Given the description of an element on the screen output the (x, y) to click on. 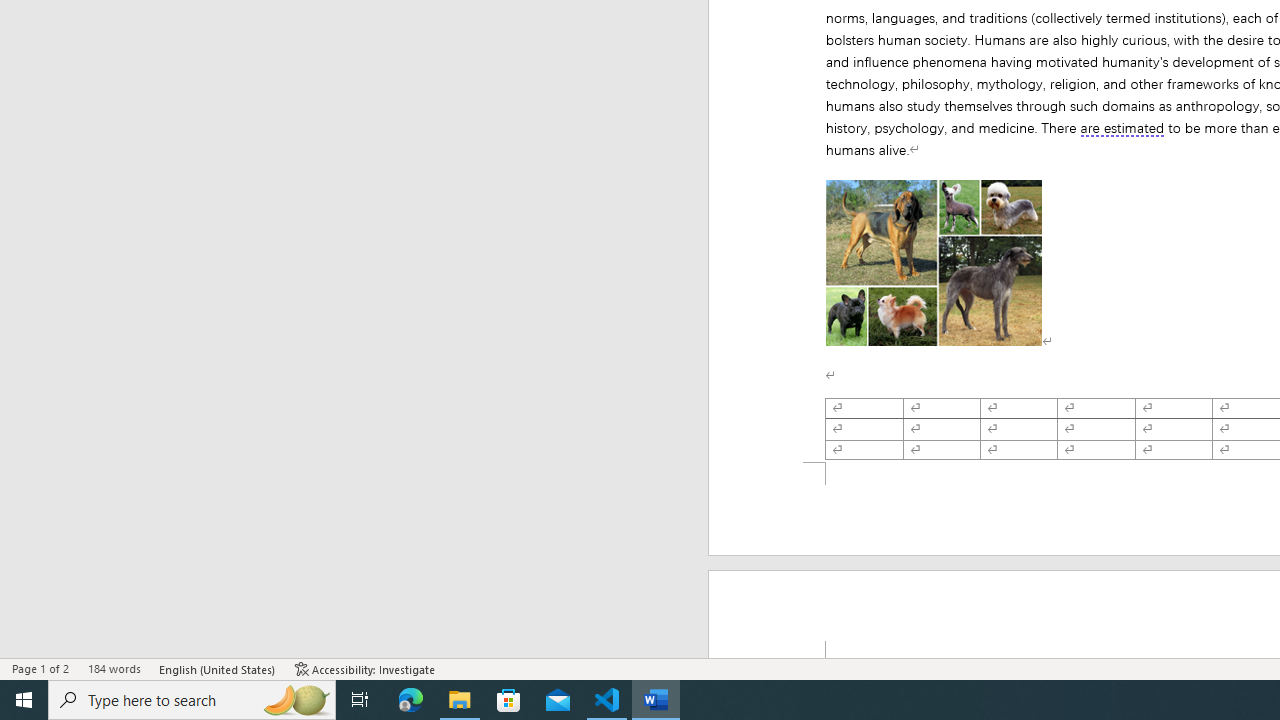
Page Number Page 1 of 2 (39, 668)
